Given the description of an element on the screen output the (x, y) to click on. 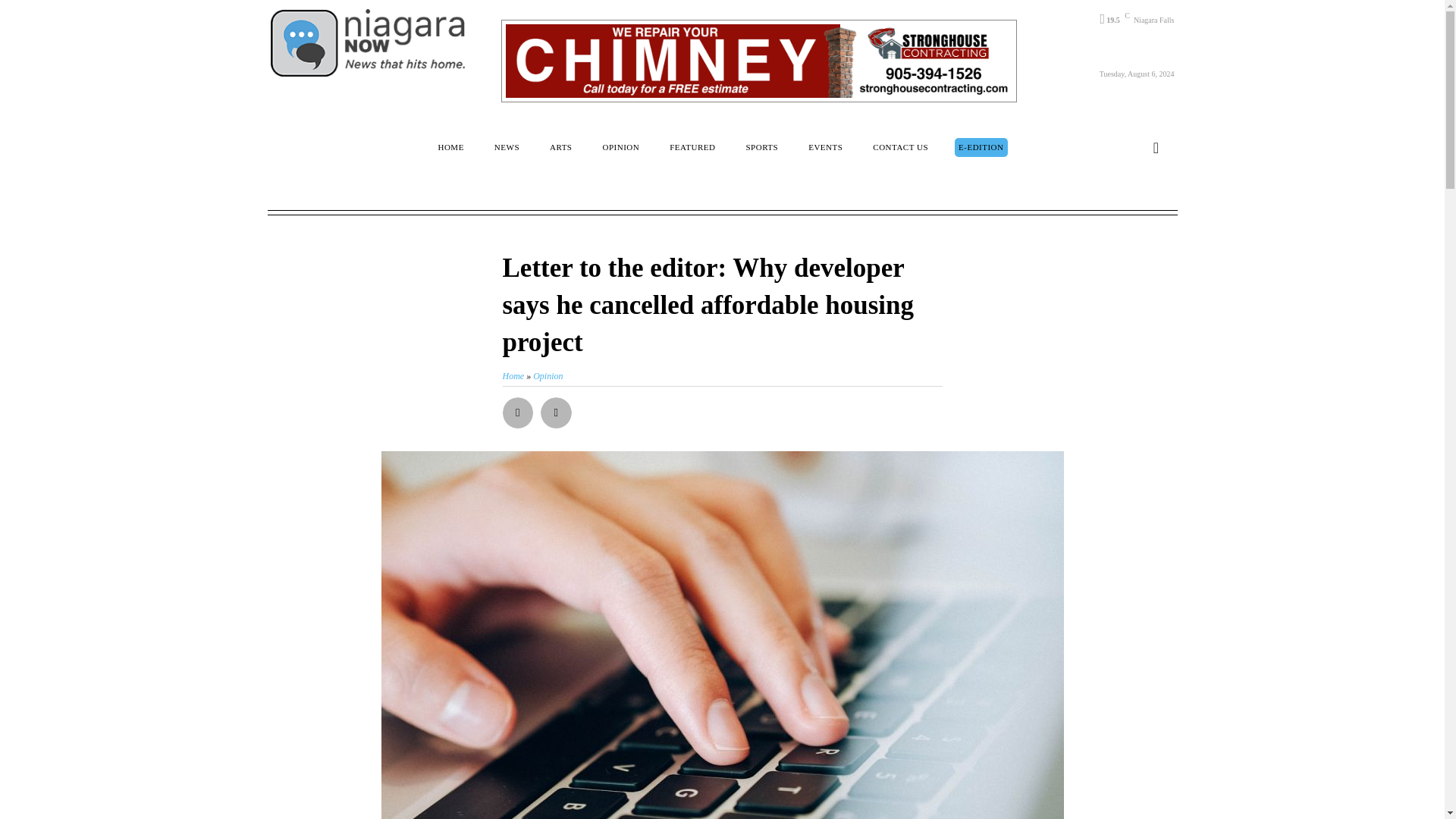
NEWS (506, 147)
ARTS (560, 147)
EVENTS (825, 147)
FEATURED (692, 147)
SPORTS (761, 147)
E-EDITION (981, 147)
OPINION (620, 147)
CONTACT US (900, 147)
HOME (450, 147)
